Given the description of an element on the screen output the (x, y) to click on. 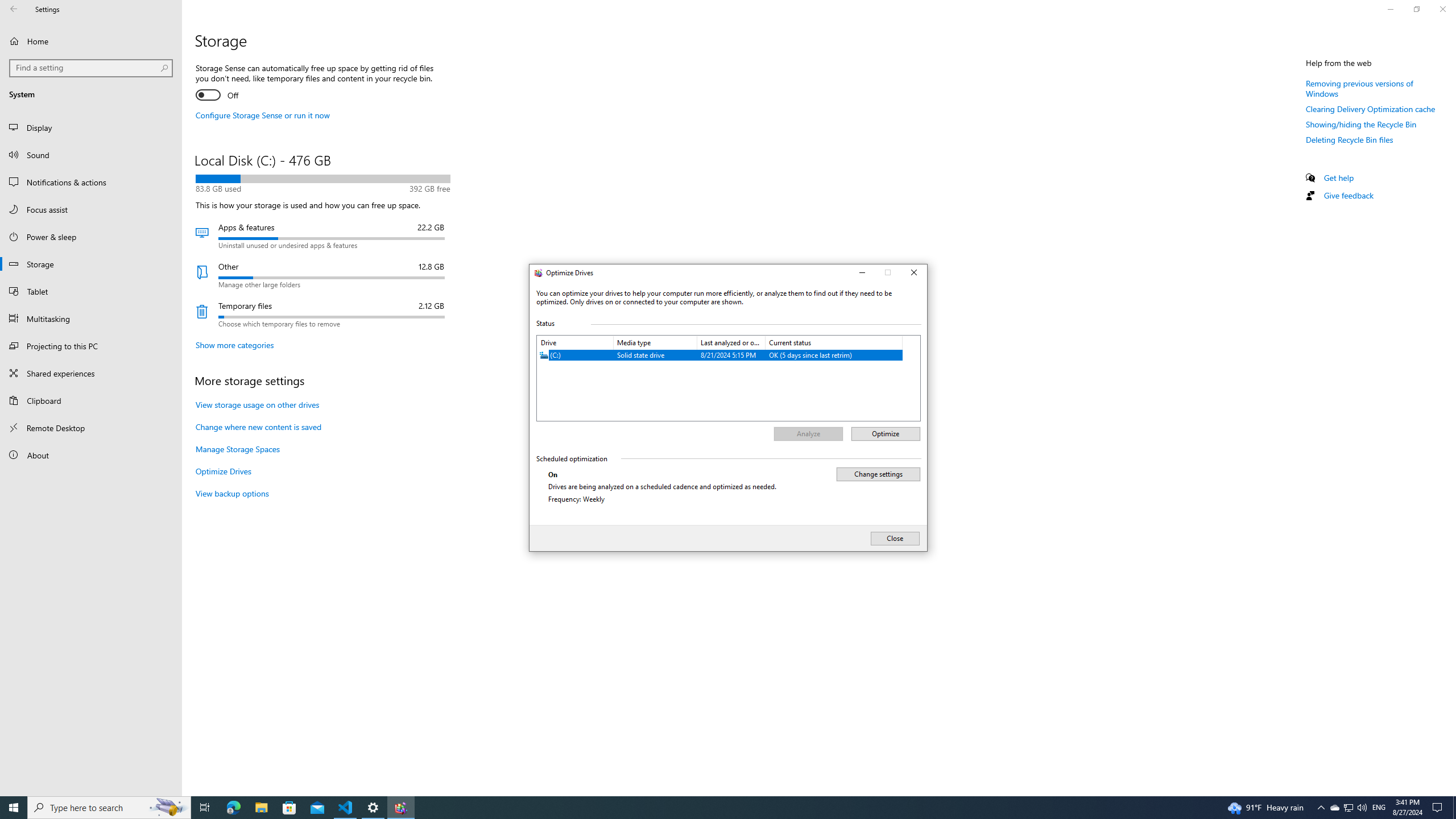
Analyze (808, 433)
